Given the description of an element on the screen output the (x, y) to click on. 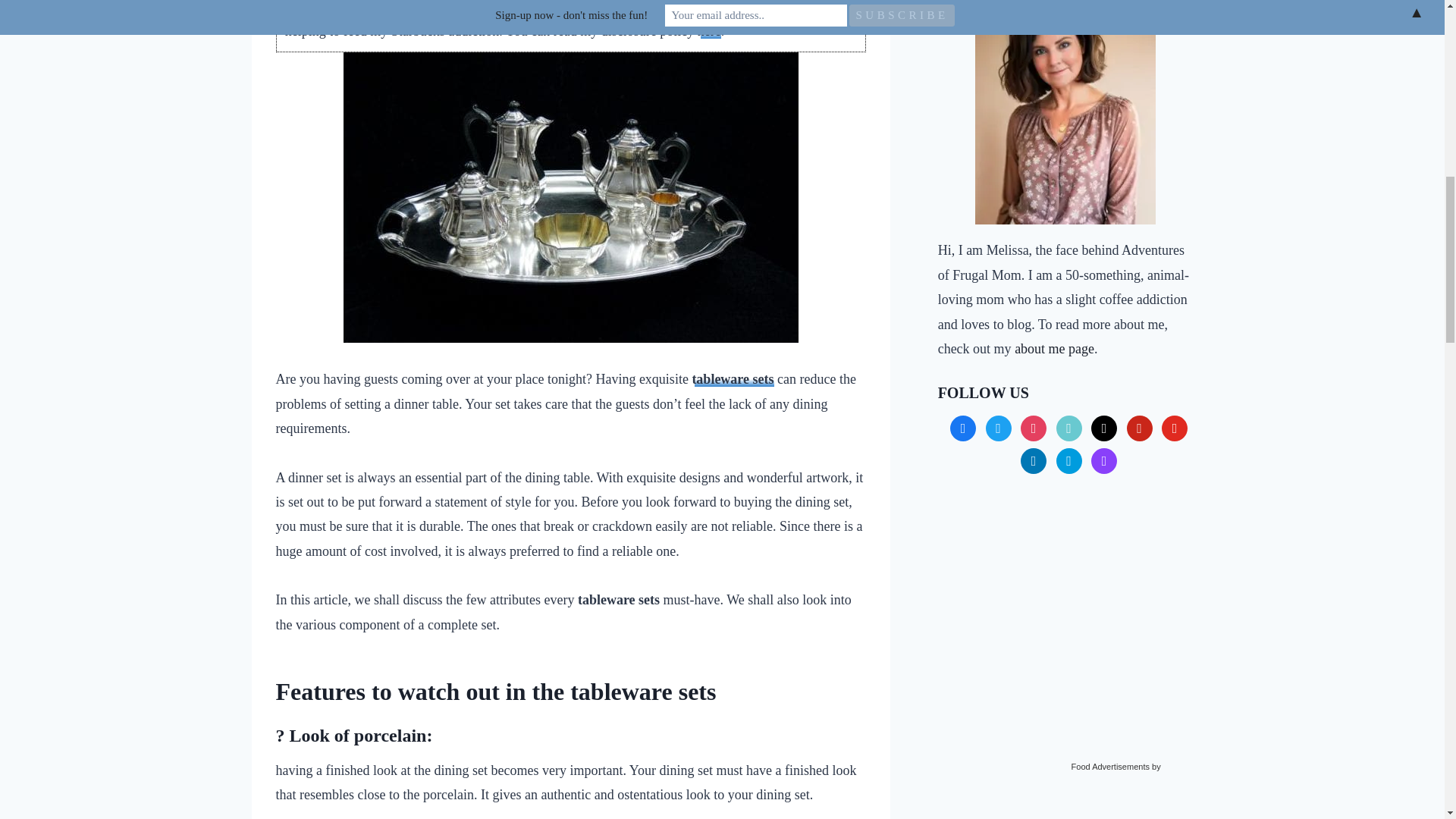
Default Label (1033, 459)
Default Label (1103, 459)
Default Label (1139, 426)
Instagram (1033, 426)
Food Advertisements (1110, 766)
Default Label (1103, 426)
Facebook (962, 426)
Default Label (1069, 459)
Default Label (1069, 426)
Default Label (1174, 426)
Twitter (998, 426)
